Given the description of an element on the screen output the (x, y) to click on. 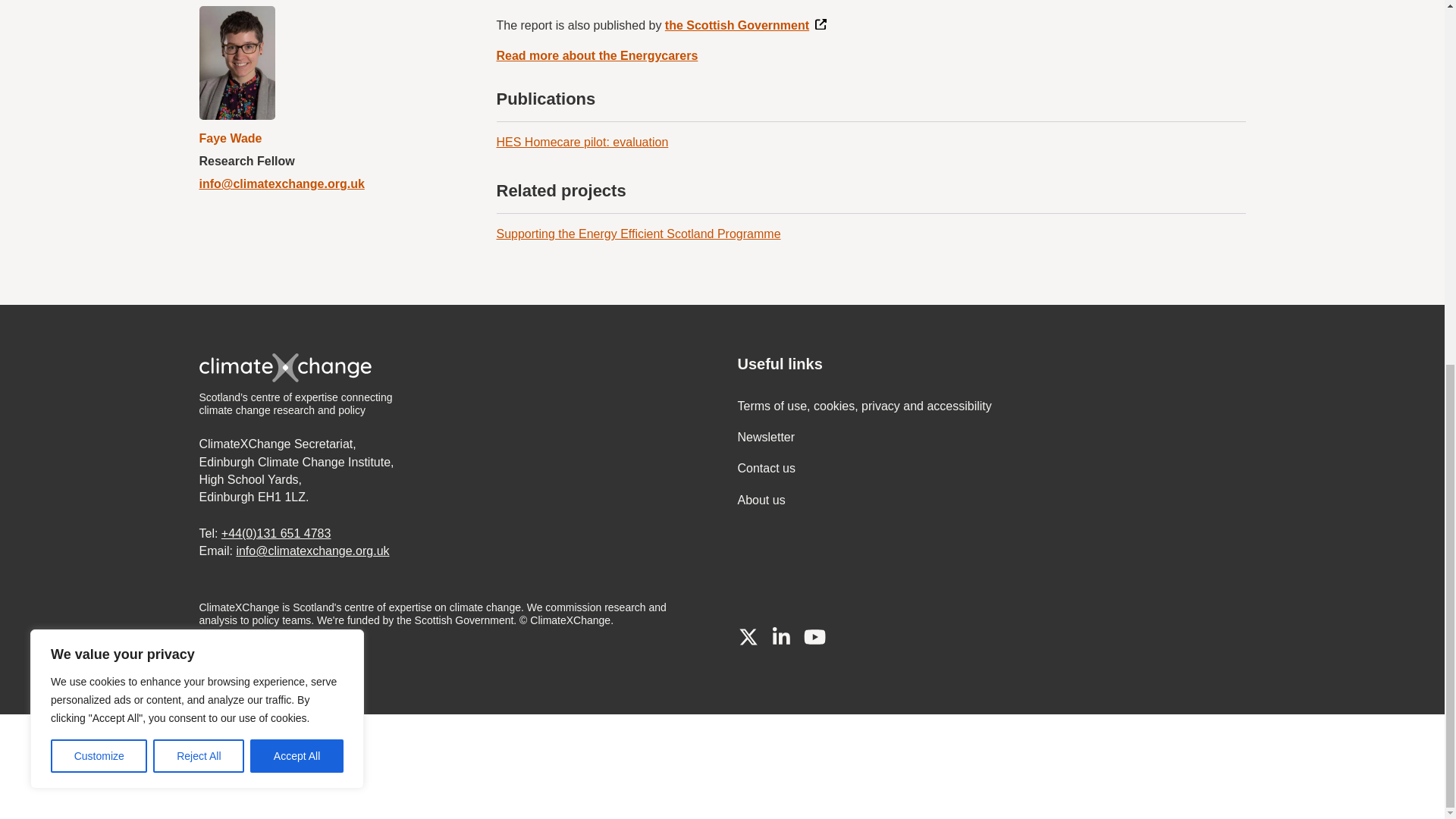
Customize (98, 101)
Accept All (296, 101)
internet-crystal-mark (417, 766)
Find us on YouTube (814, 636)
government-logo-1-e1696504105465-300x46 (180, 766)
Find us on Linkedin (781, 636)
Find us on Twitter (747, 636)
Reject All (198, 101)
